Given the description of an element on the screen output the (x, y) to click on. 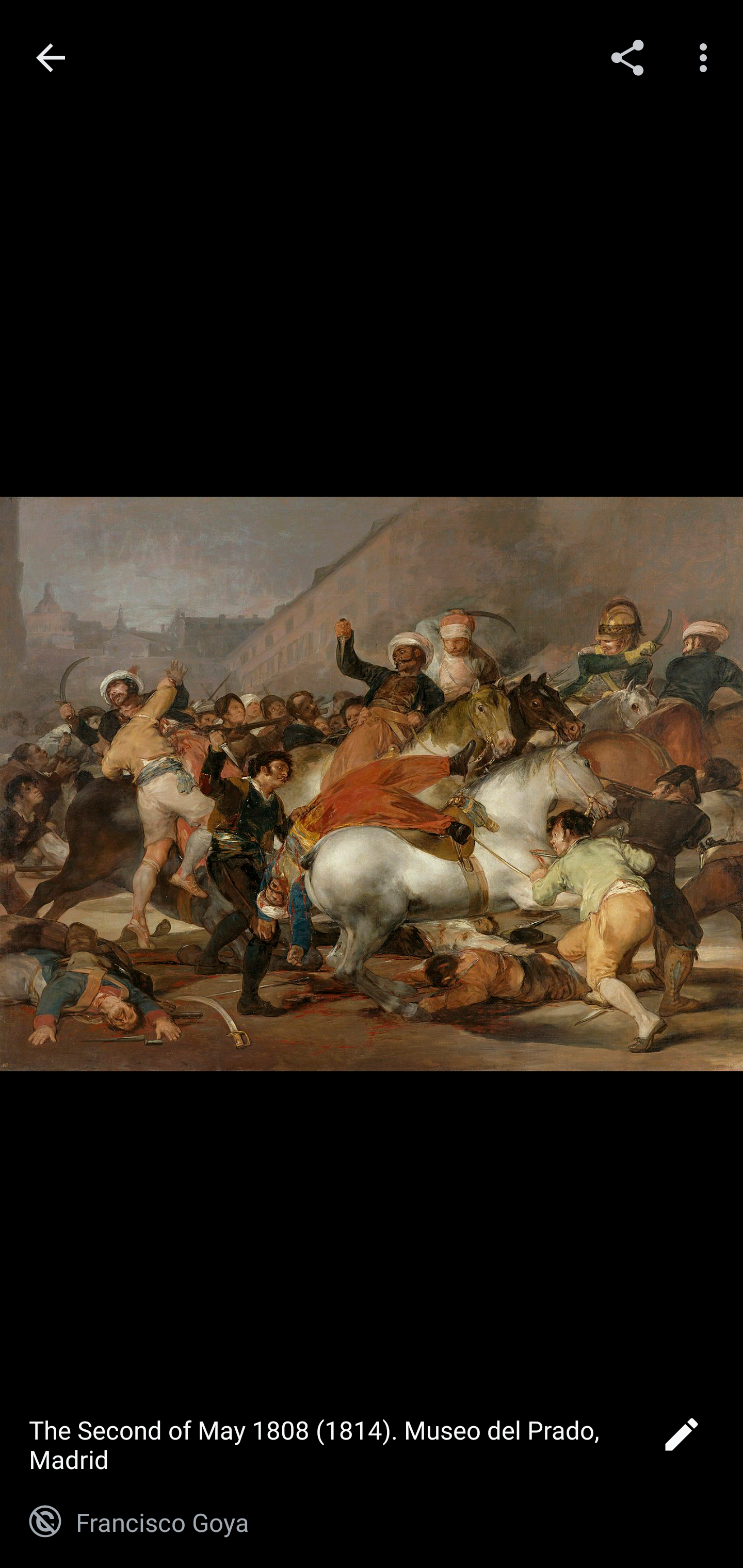
Navigate up (50, 57)
Share (626, 57)
More options (706, 57)
Edit image caption (681, 1439)
Public domain (44, 1521)
